Given the description of an element on the screen output the (x, y) to click on. 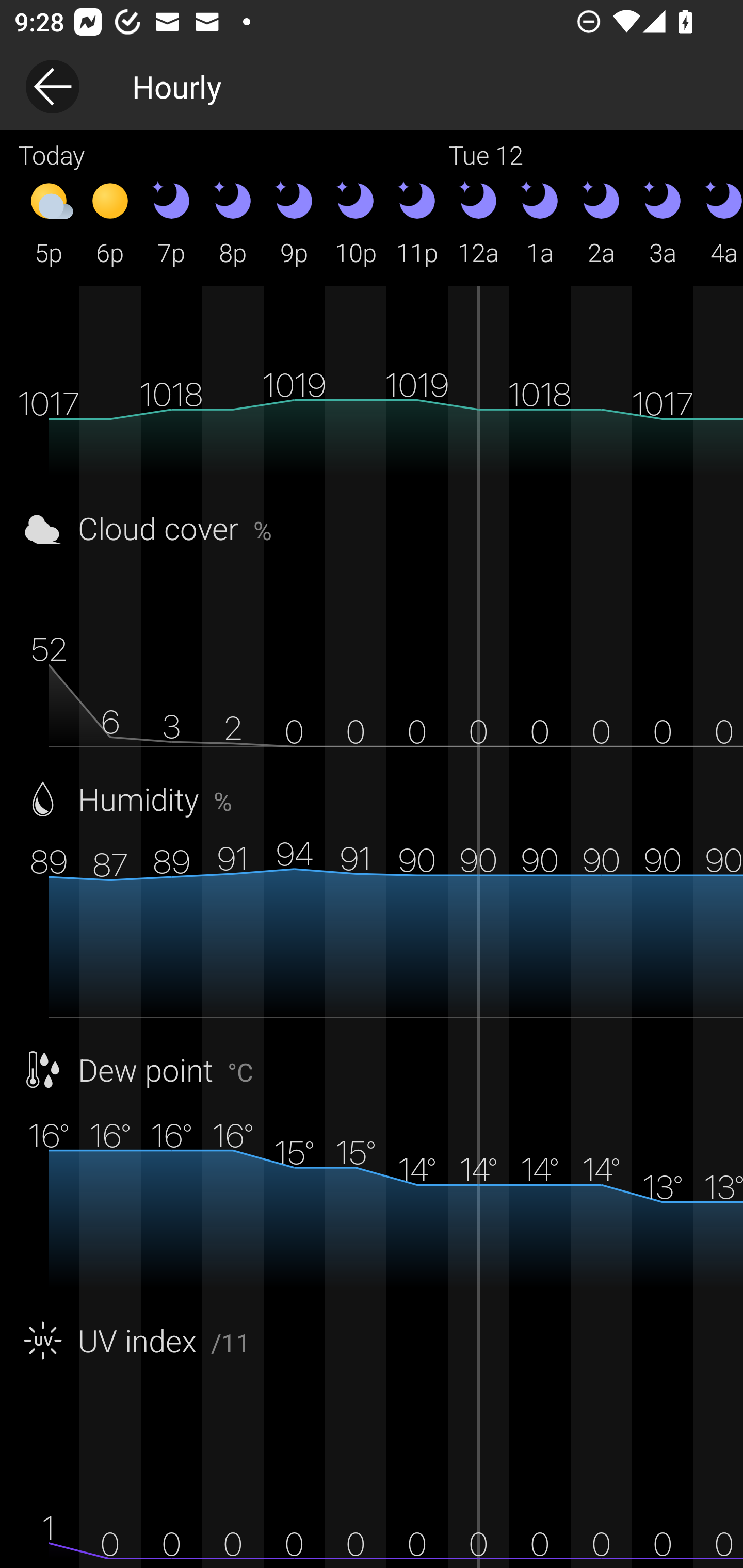
5p (48, 222)
6p (110, 222)
7p (171, 222)
8p (232, 222)
9p (294, 222)
10p (355, 222)
11p (417, 222)
12a (478, 222)
1a (539, 222)
2a (601, 222)
3a (662, 222)
4a (718, 222)
